Given the description of an element on the screen output the (x, y) to click on. 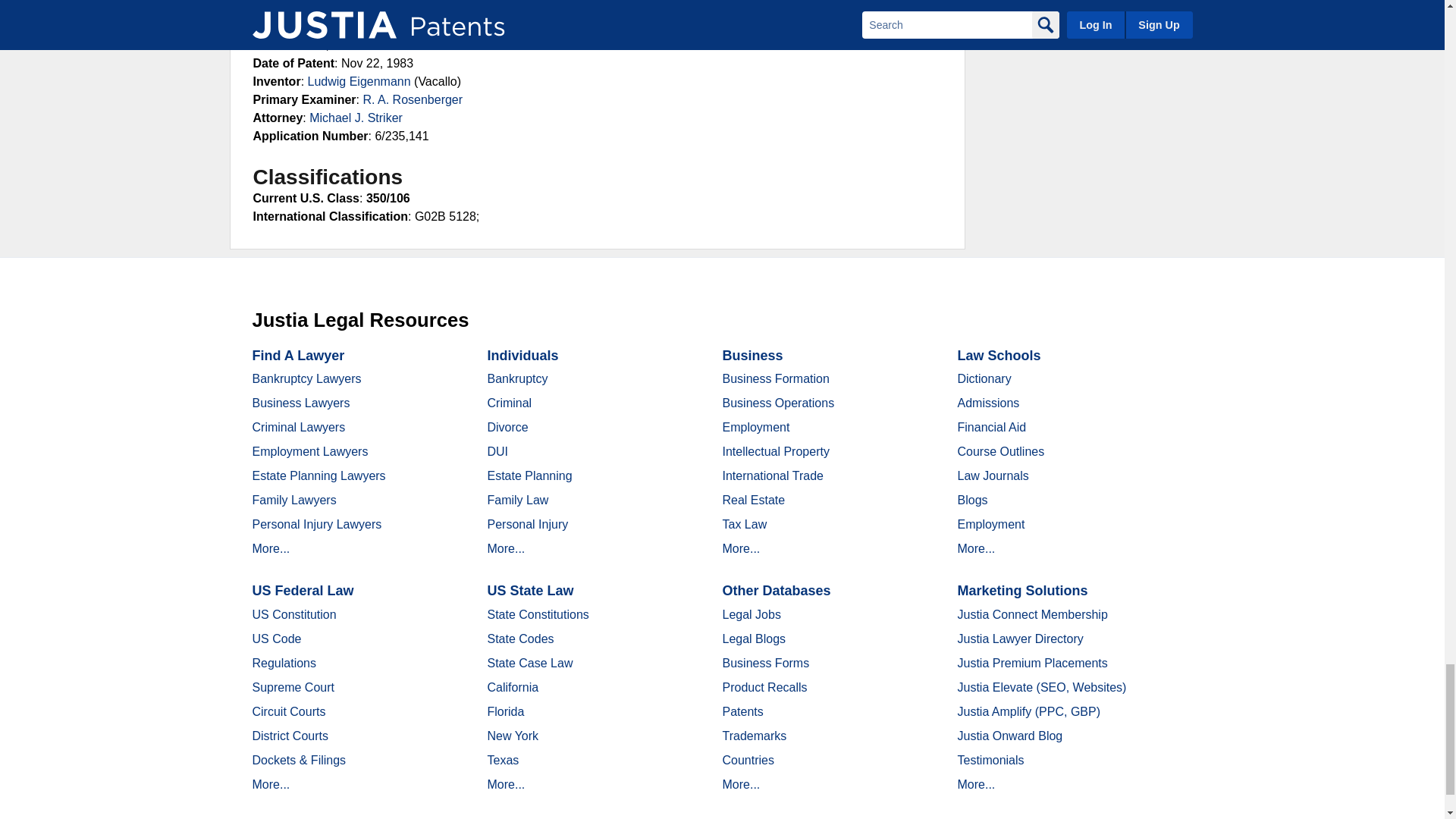
Michael J. Striker (355, 117)
R. A. Rosenberger (412, 99)
Ludwig Eigenmann (358, 81)
